Given the description of an element on the screen output the (x, y) to click on. 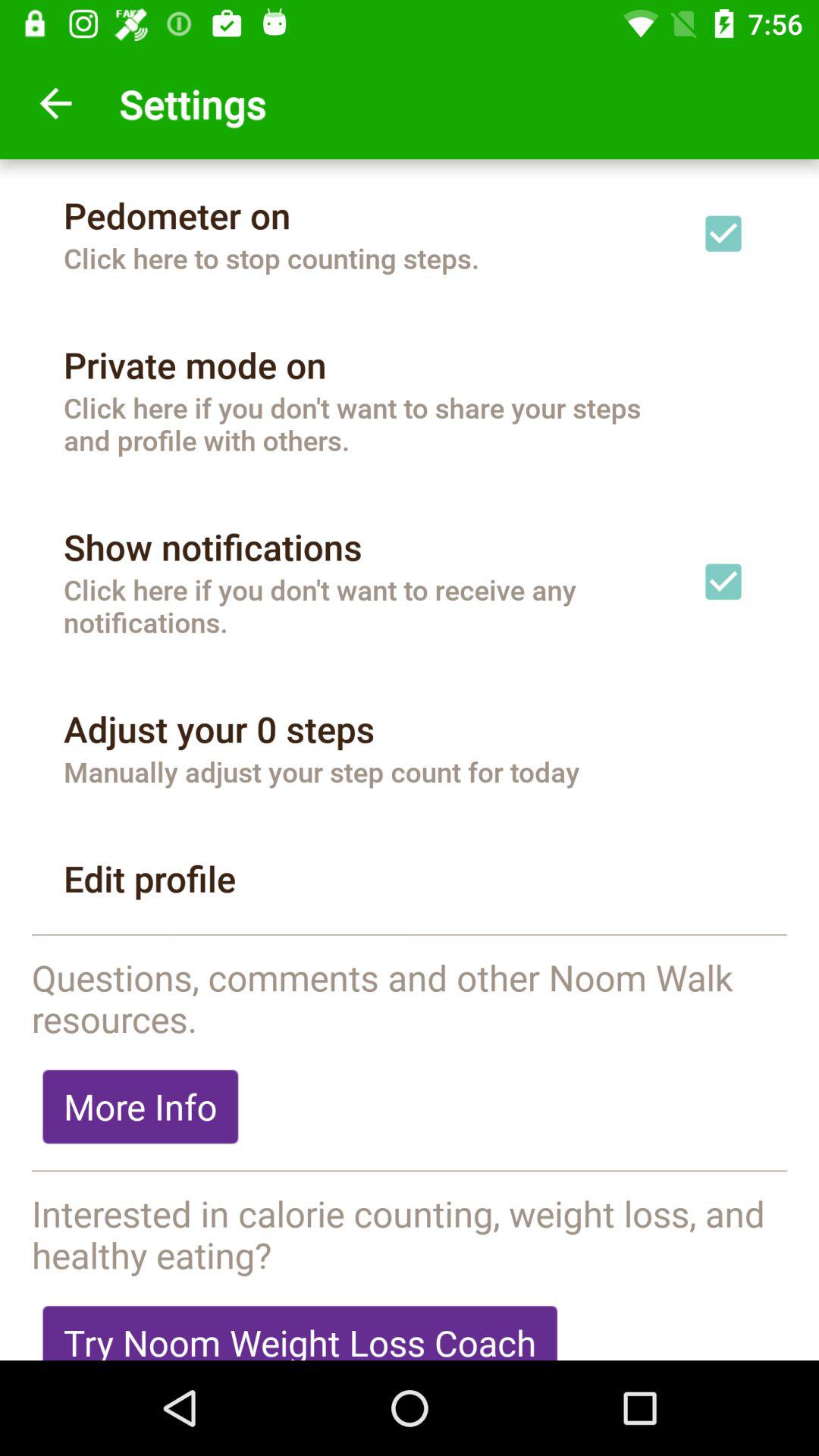
select icon above the click here if (212, 546)
